Given the description of an element on the screen output the (x, y) to click on. 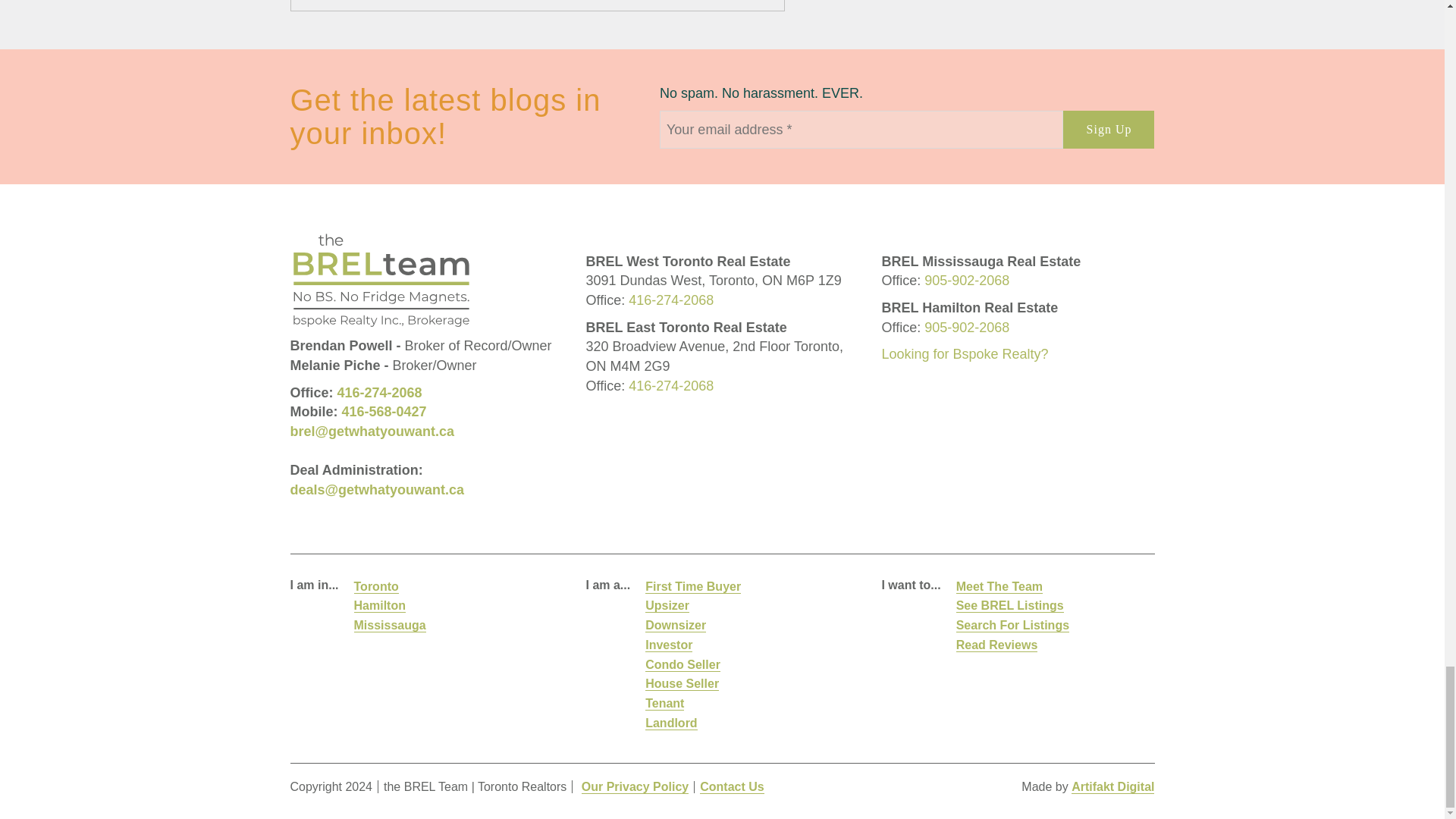
Sign Up (1108, 129)
